Given the description of an element on the screen output the (x, y) to click on. 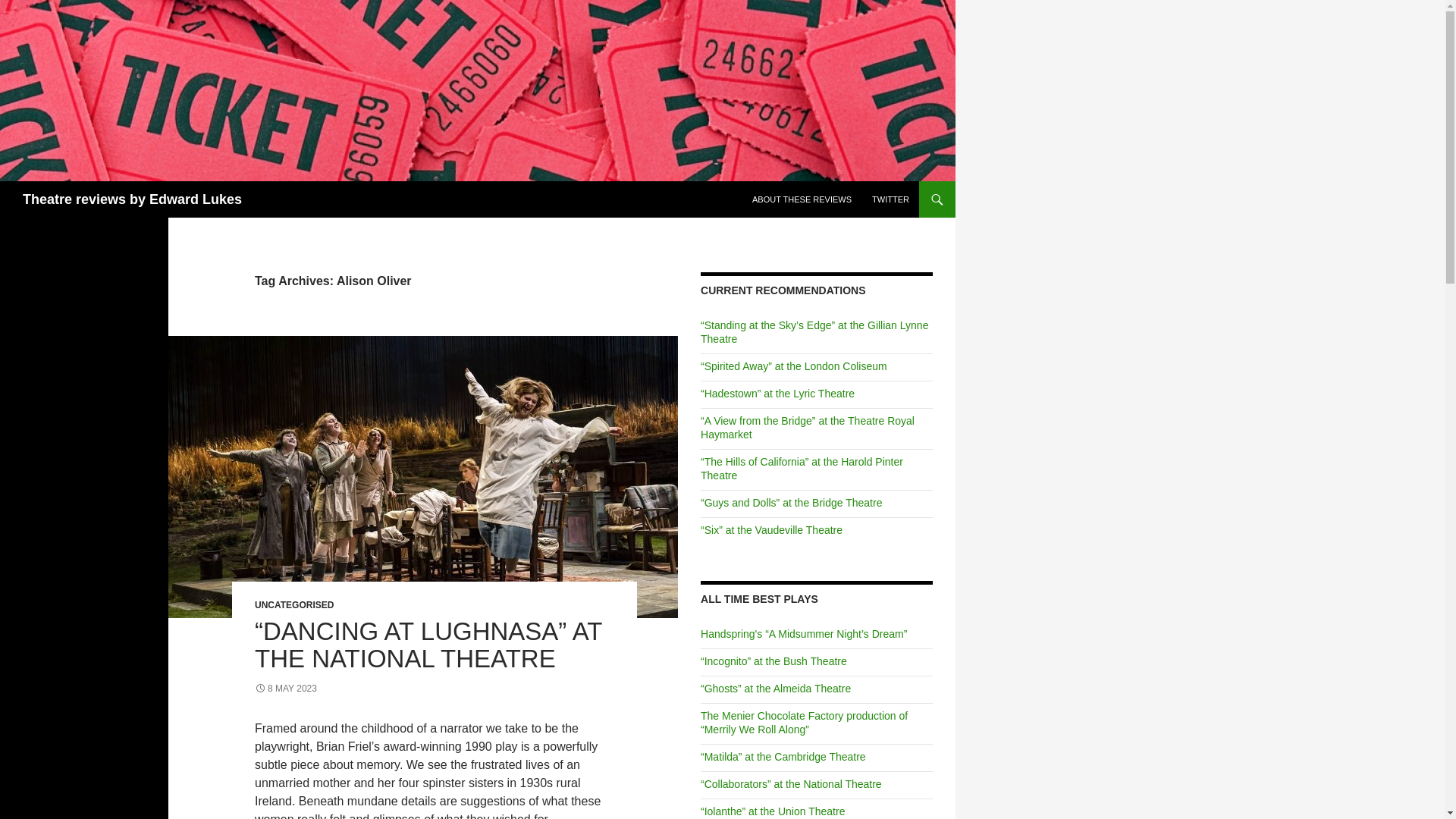
8 MAY 2023 (285, 688)
ABOUT THESE REVIEWS (801, 198)
TWITTER (890, 198)
UNCATEGORISED (293, 604)
Theatre reviews by Edward Lukes (132, 198)
